Given the description of an element on the screen output the (x, y) to click on. 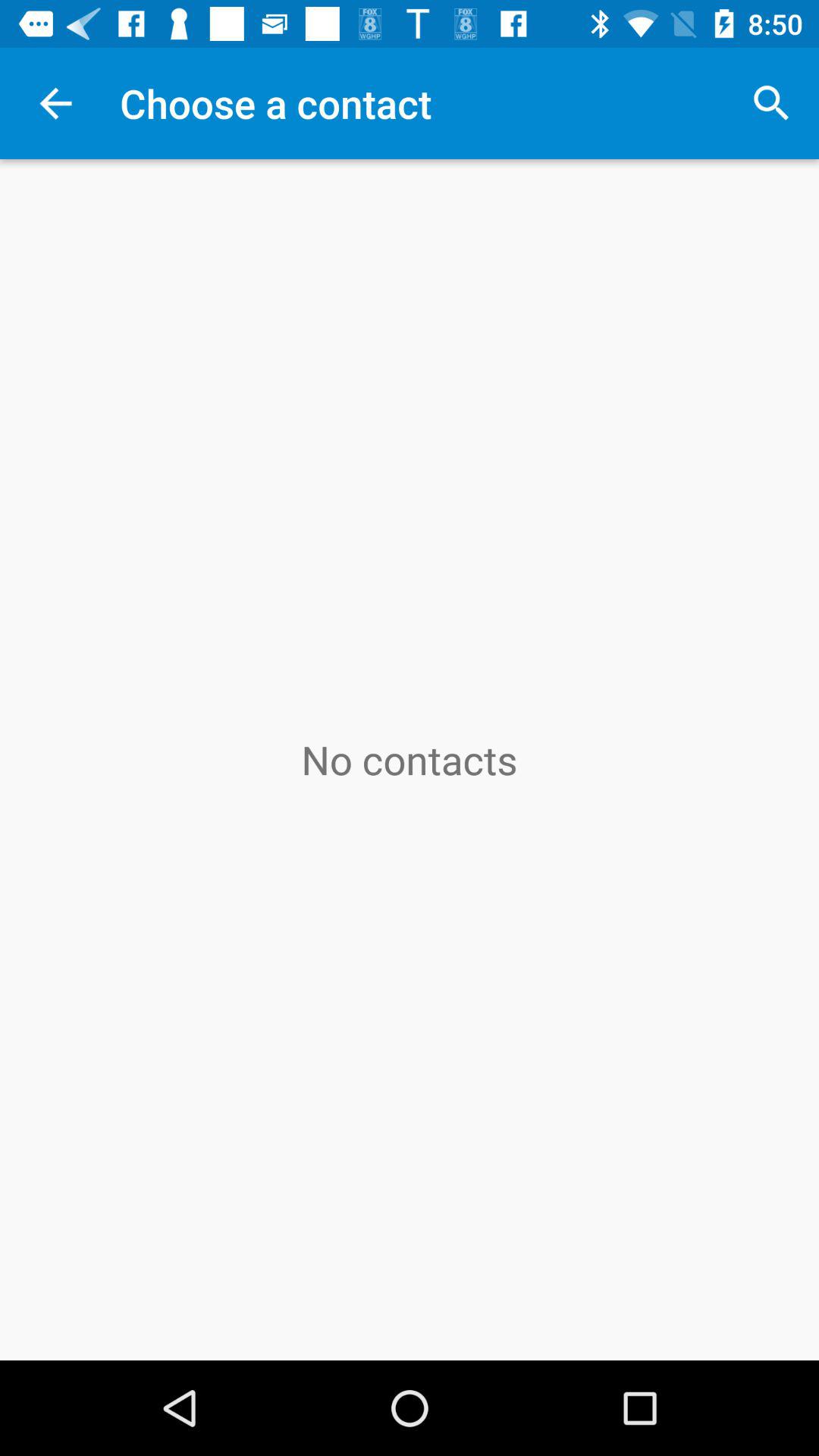
tap icon to the right of the choose a contact icon (771, 103)
